Given the description of an element on the screen output the (x, y) to click on. 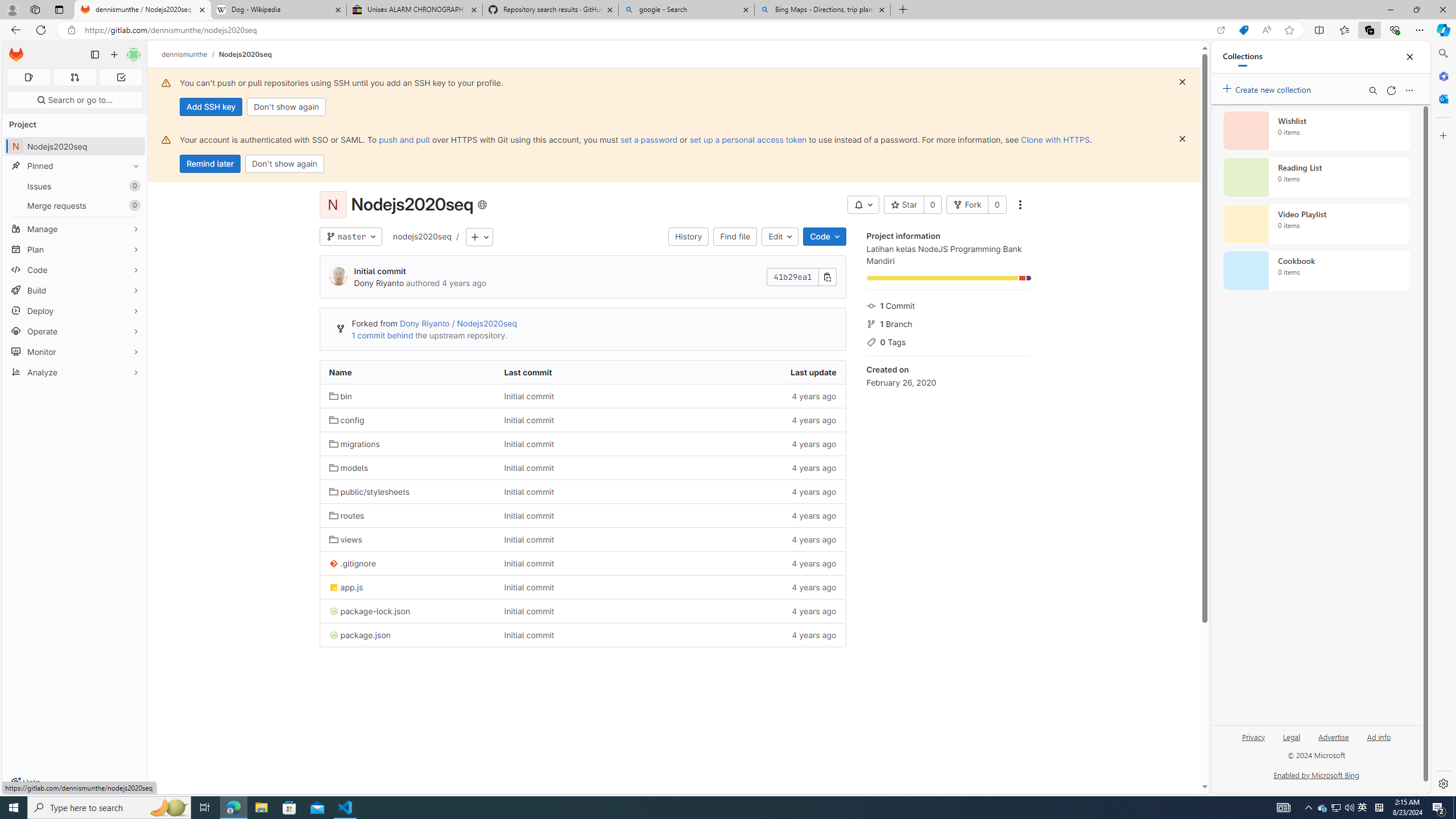
nodejs2020seq (422, 236)
Ad info (1378, 736)
routes (407, 515)
Wishlist collection, 0 items (1316, 130)
Skip to main content (13, 49)
N Nodejs2020seq (74, 145)
google - Search (685, 9)
Deploy (74, 310)
Name (407, 372)
Unpin Merge requests (132, 205)
Operate (74, 330)
package-lock.json (369, 611)
